Given the description of an element on the screen output the (x, y) to click on. 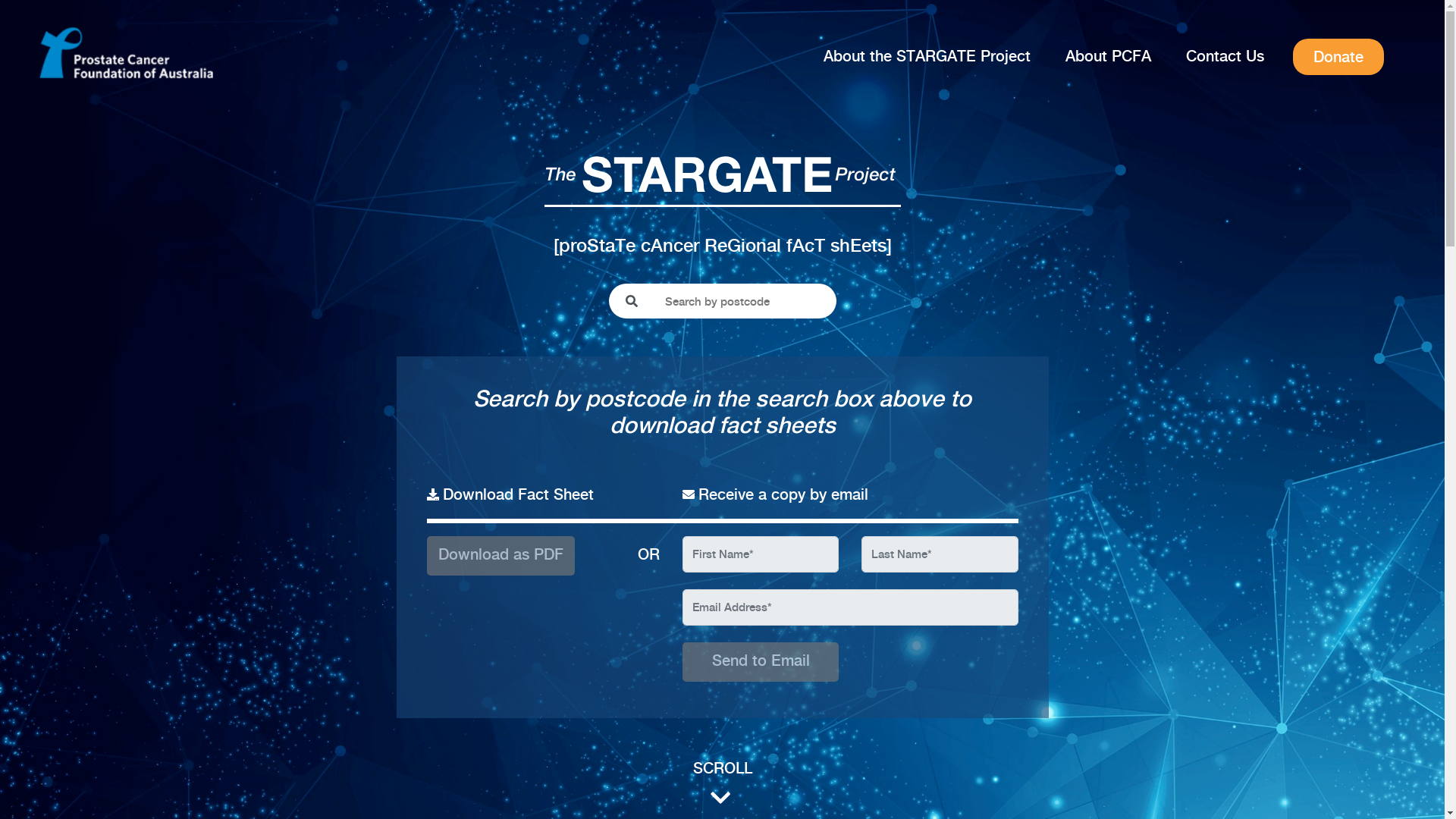
About PCFA Element type: text (1108, 57)
About the STARGATE Project Element type: text (926, 57)
Download as PDF Element type: text (500, 555)
Contact Us Element type: text (1224, 57)
SCROLL Element type: text (721, 784)
Donate Element type: text (1337, 56)
Send to Email Element type: text (760, 661)
